Given the description of an element on the screen output the (x, y) to click on. 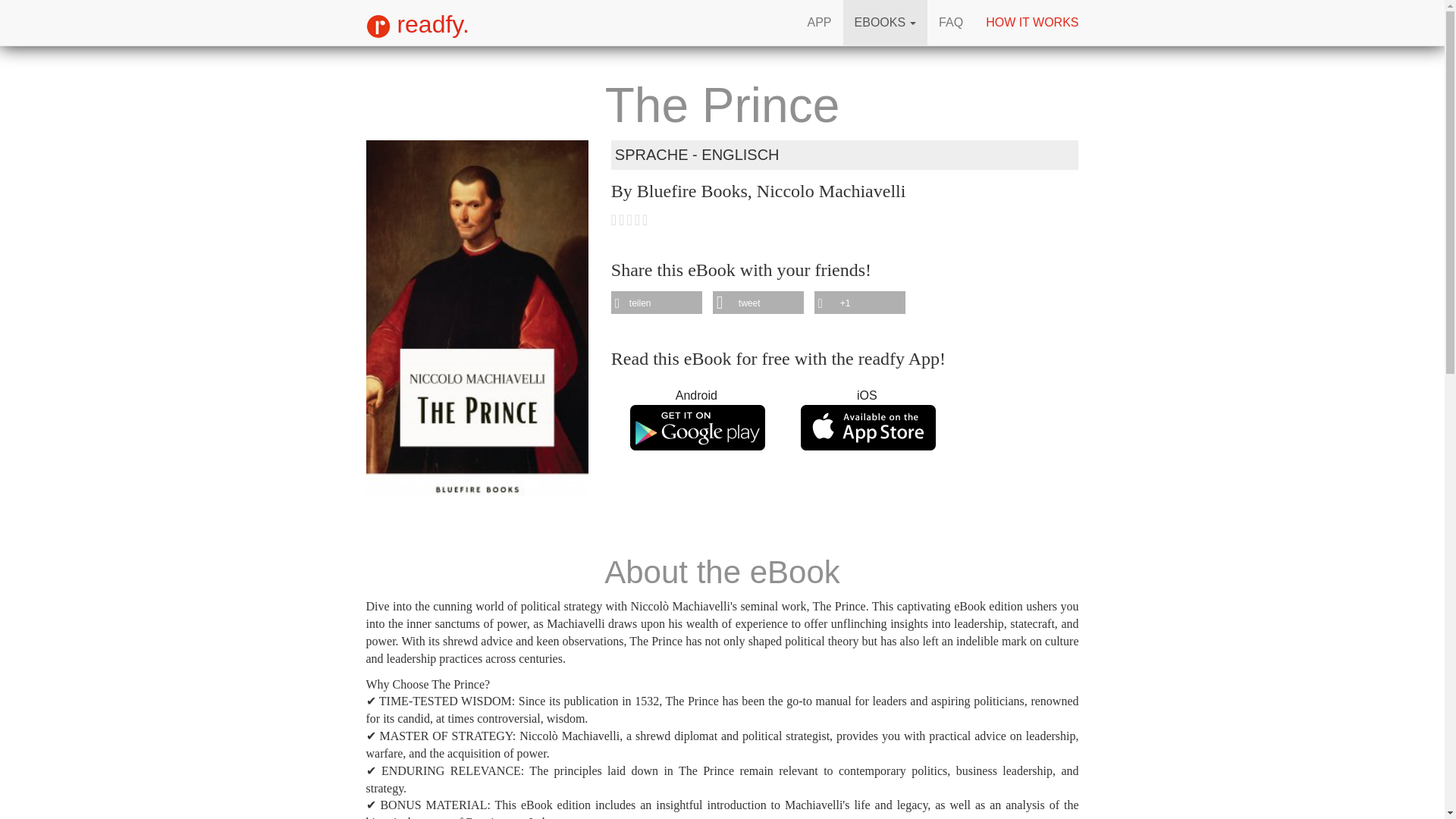
readfy. (417, 22)
Home (417, 22)
Android (696, 418)
EBOOKS (885, 22)
eBooks (885, 22)
App (819, 22)
iOS (866, 418)
tweet (758, 302)
APP (819, 22)
teilen (656, 302)
